Given the description of an element on the screen output the (x, y) to click on. 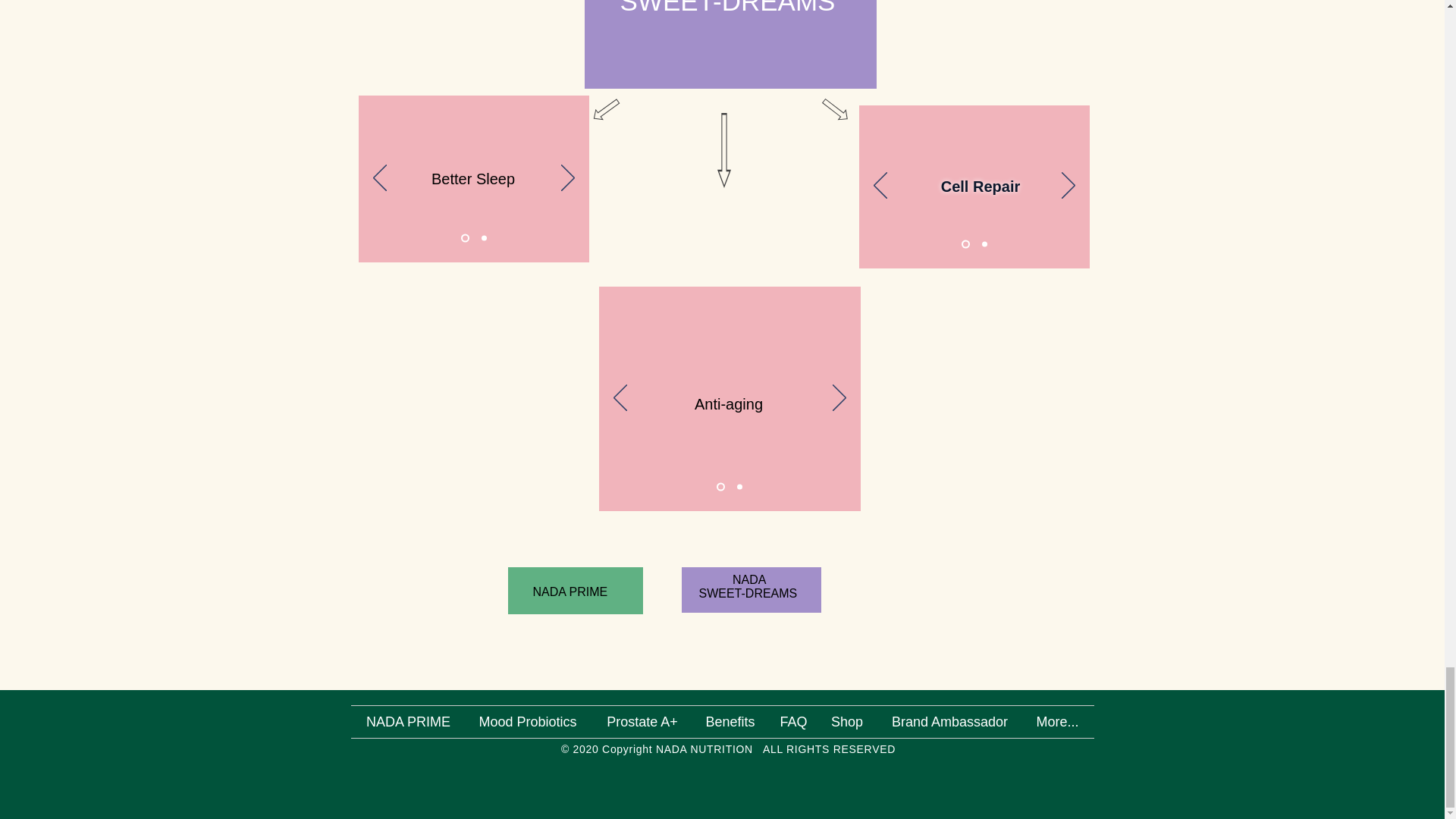
NADA PRIME (408, 721)
Mood Probiotics (527, 721)
